Given the description of an element on the screen output the (x, y) to click on. 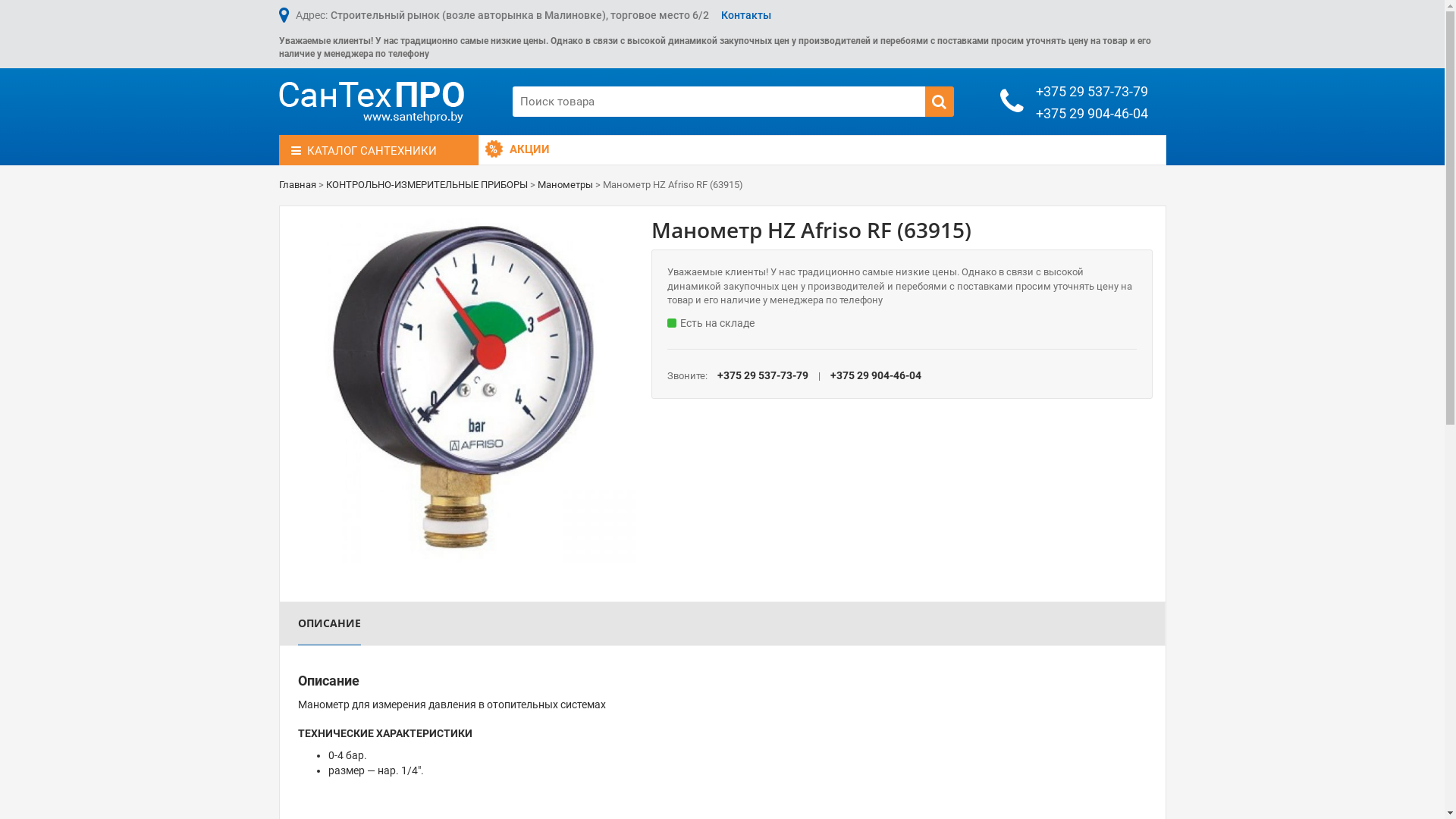
+375 29 904-46-04 Element type: text (875, 375)
Expand Element type: text (305, 547)
+375 29 537-73-79 Element type: text (762, 375)
afriso-63911 Element type: hover (463, 390)
+375 29 537-73-79 Element type: text (1091, 91)
+375 29 904-46-04 Element type: text (1091, 113)
